Given the description of an element on the screen output the (x, y) to click on. 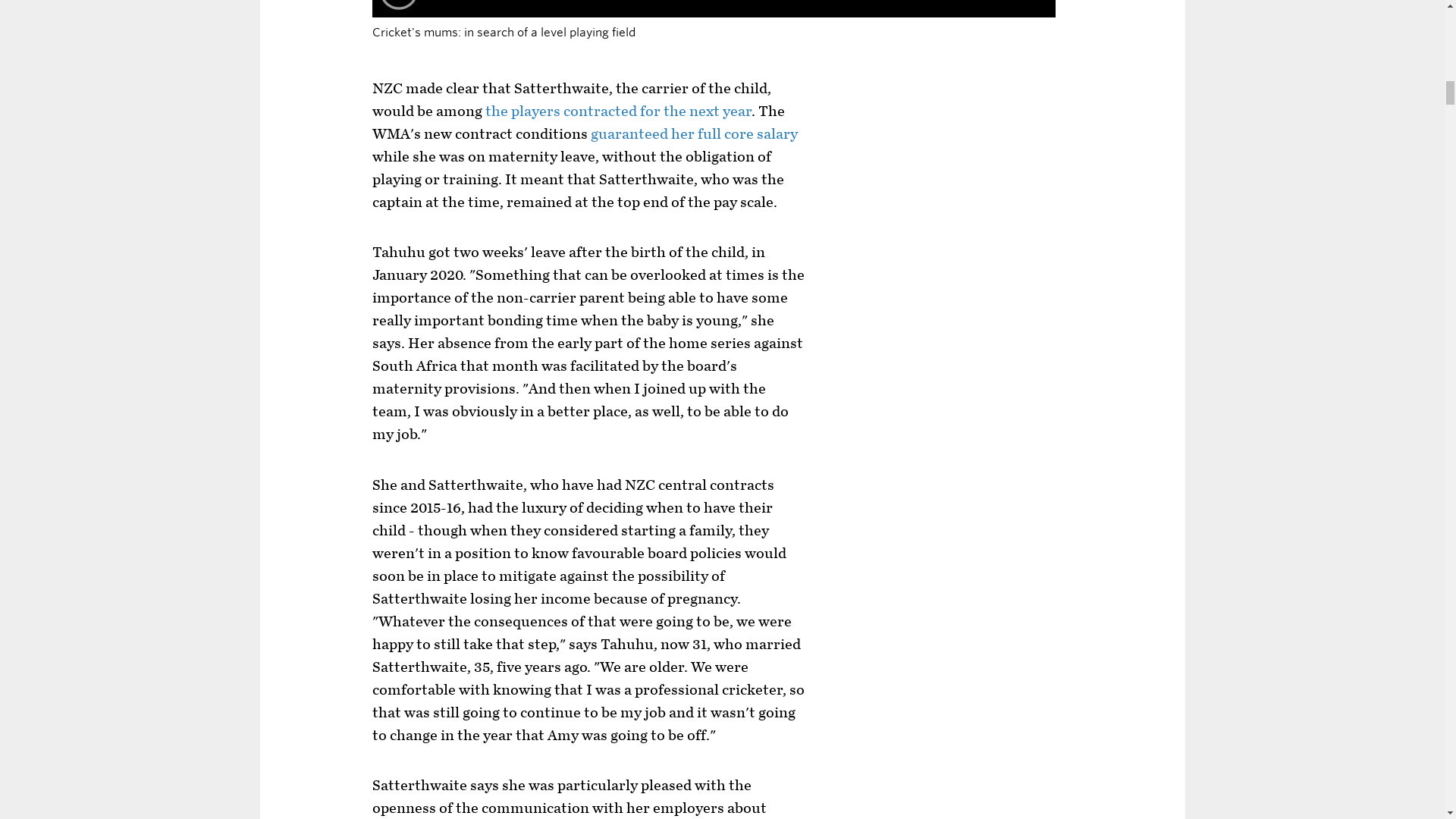
the players contracted for the next year (617, 111)
guaranteed her full core salary (694, 134)
